Given the description of an element on the screen output the (x, y) to click on. 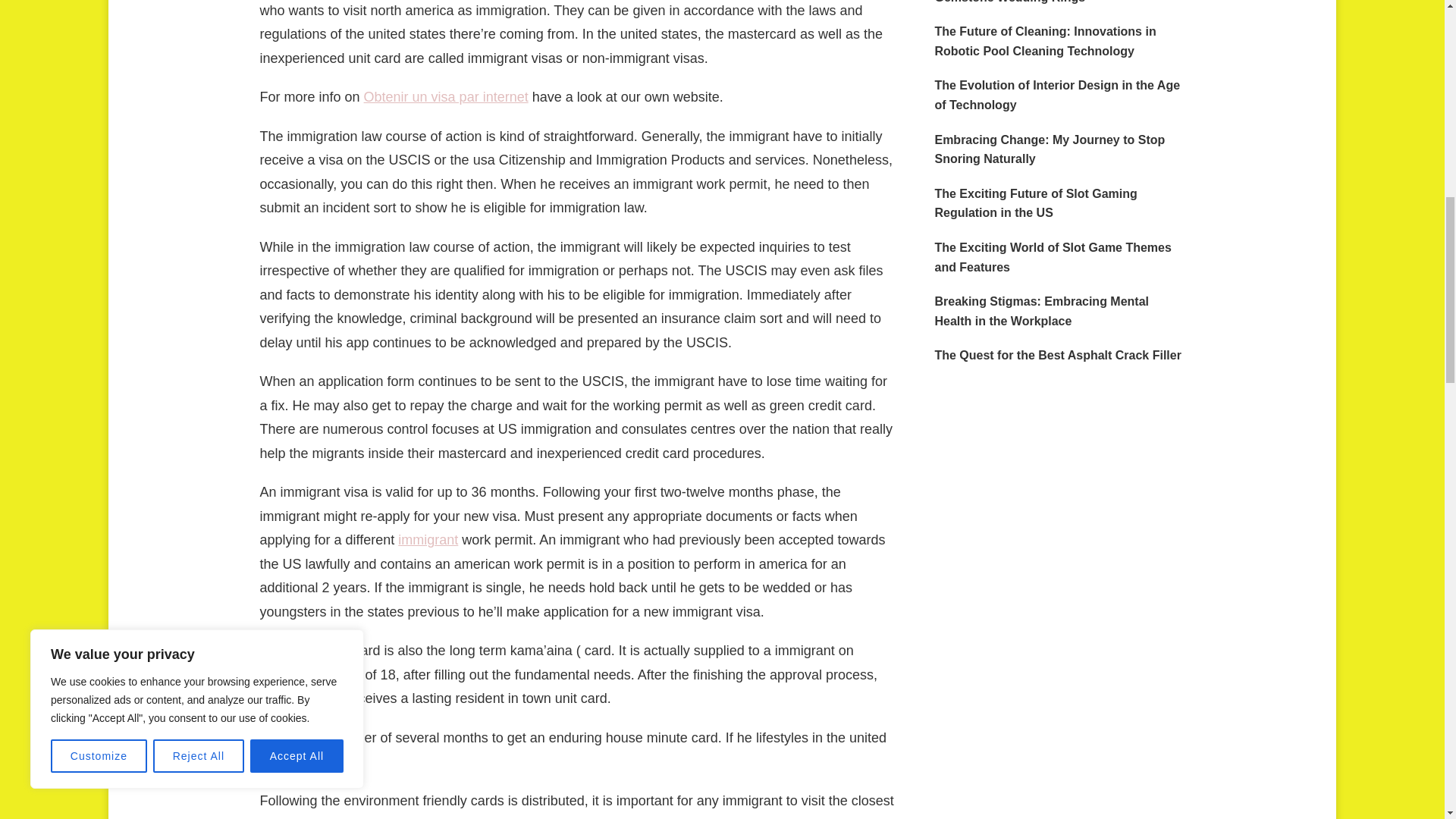
immigrant (427, 539)
Obtenir un visa par internet (446, 96)
